Given the description of an element on the screen output the (x, y) to click on. 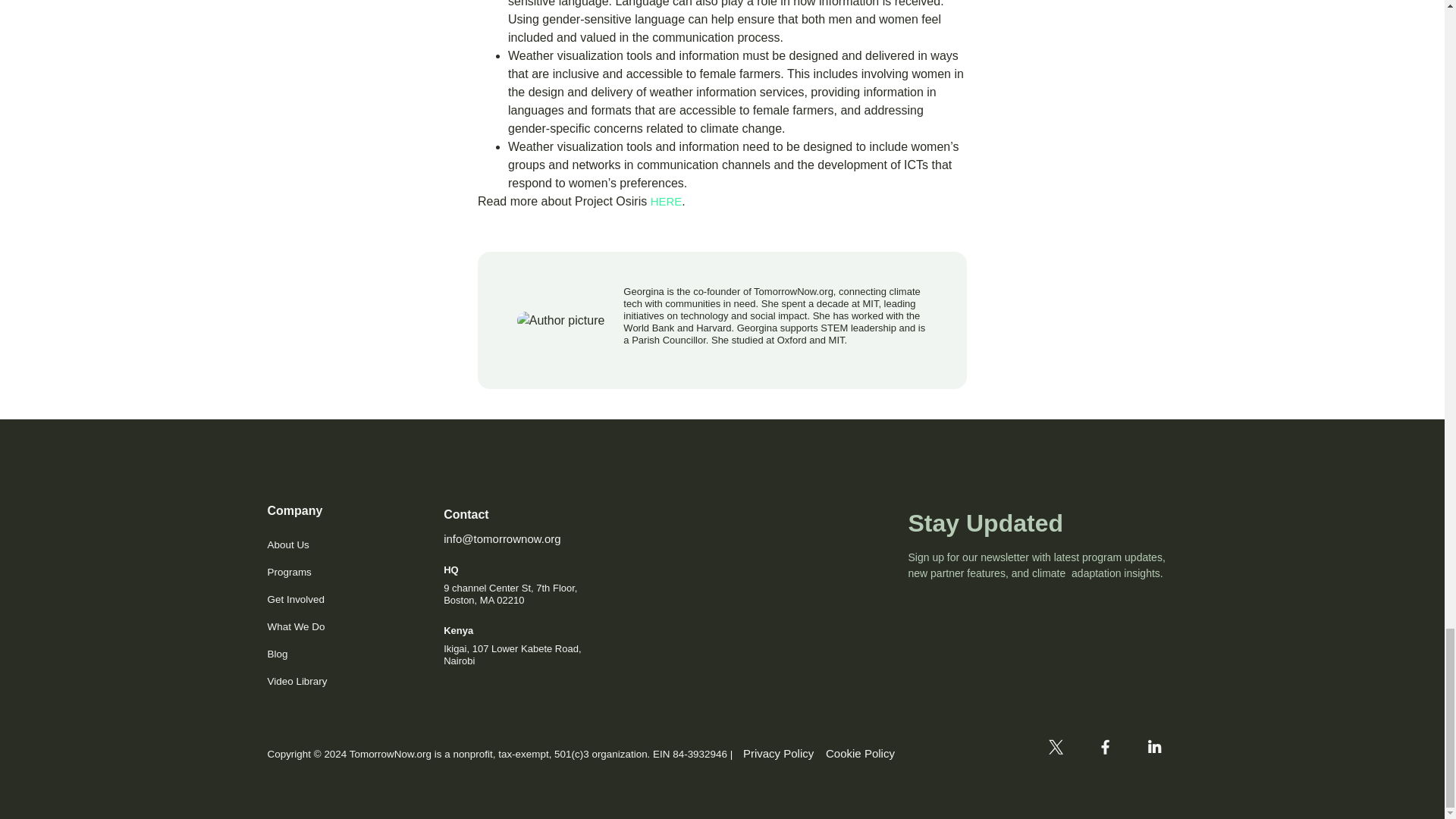
What We Do (296, 626)
Cookie Policy (860, 753)
Blog (296, 654)
About Us (296, 544)
Get Involved (296, 599)
Video Library (296, 681)
HERE (666, 201)
Programs (296, 572)
Privacy Policy (777, 753)
